Given the description of an element on the screen output the (x, y) to click on. 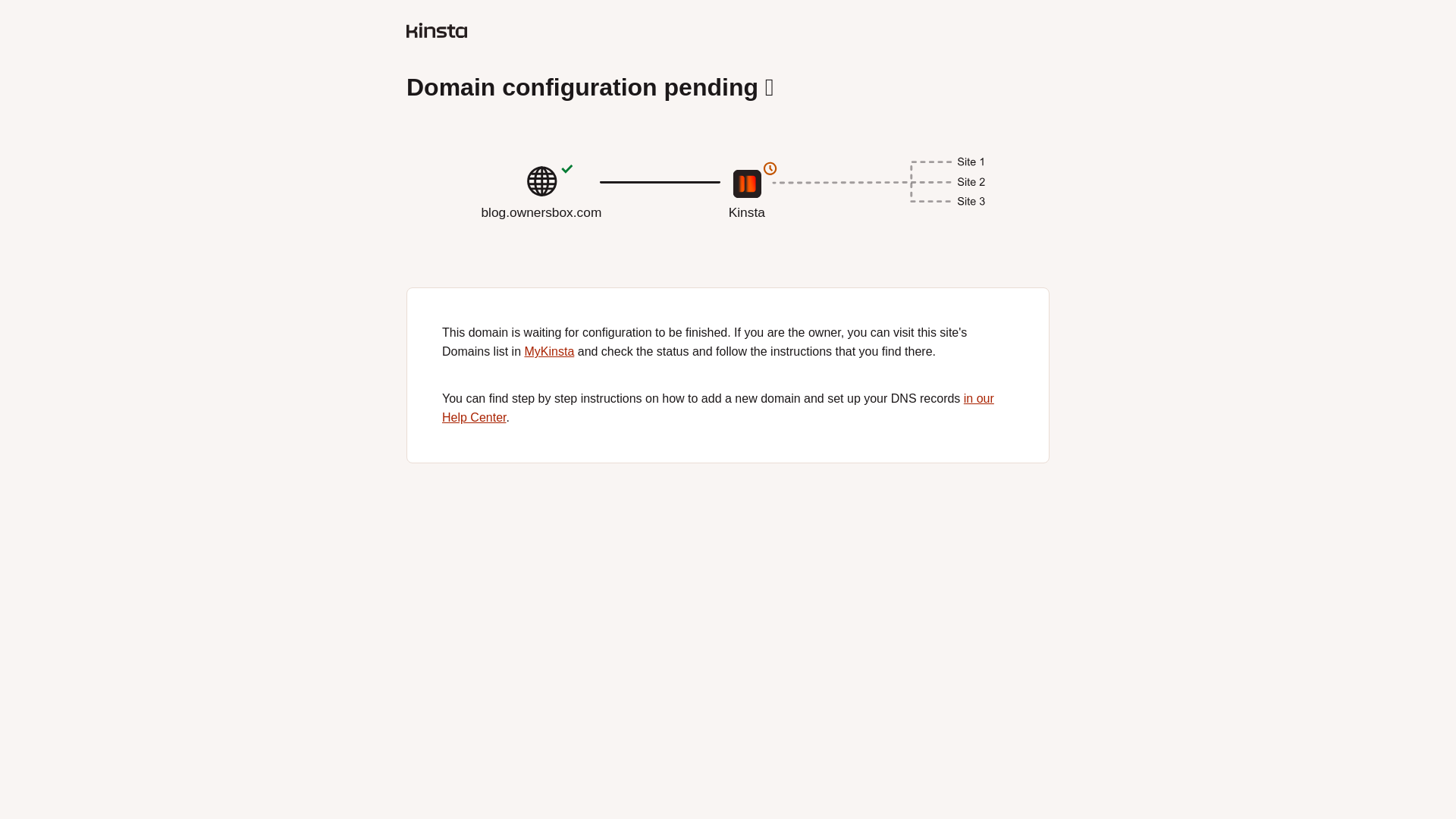
MyKinsta (727, 218)
in our Help Center (548, 350)
